Given the description of an element on the screen output the (x, y) to click on. 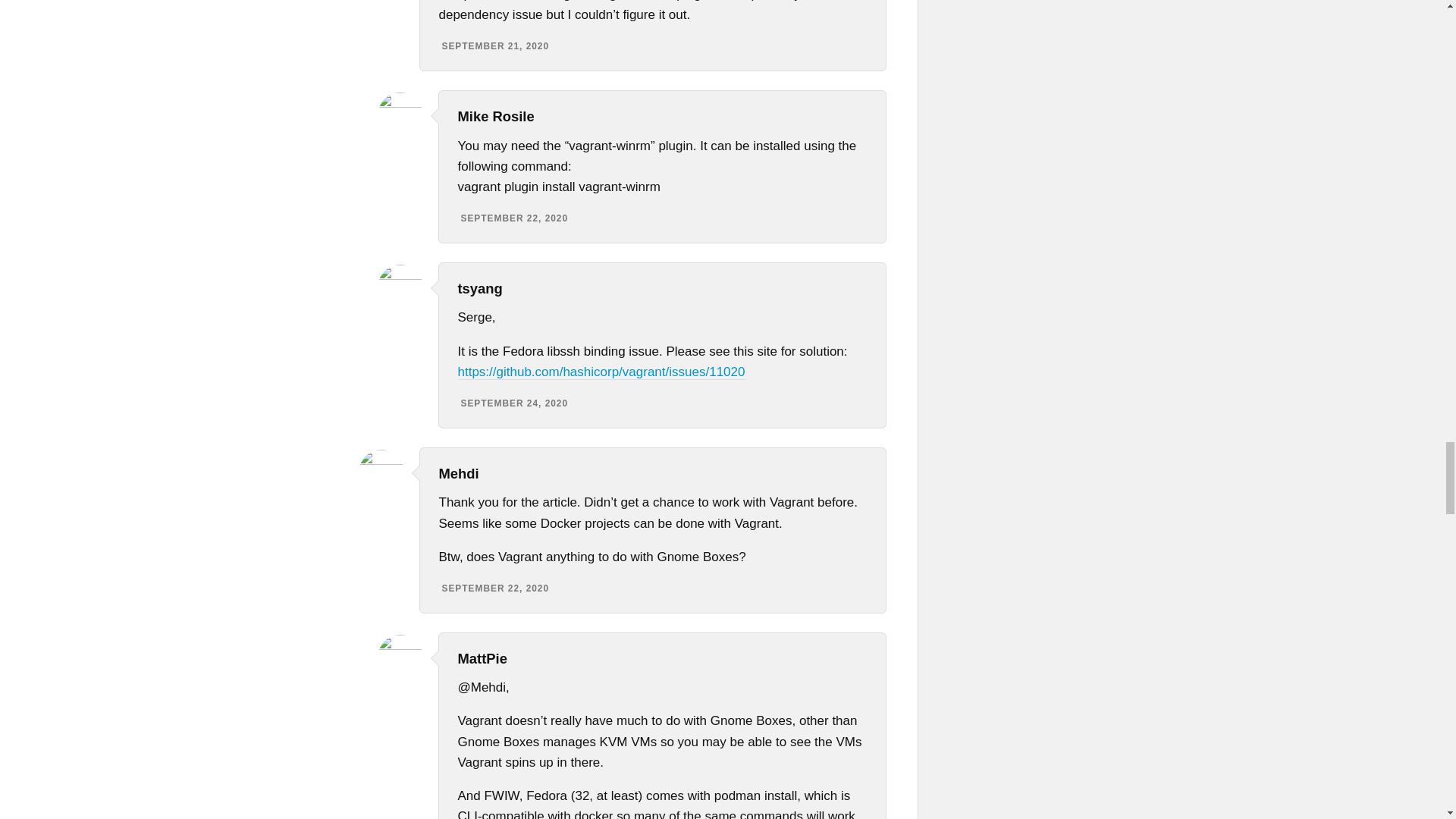
SEPTEMBER 24, 2020 (515, 403)
September 24, 2020 at 05:23 (515, 403)
September 22, 2020 at 10:40 (494, 588)
SEPTEMBER 22, 2020 (494, 588)
SEPTEMBER 21, 2020 (494, 45)
SEPTEMBER 22, 2020 (515, 217)
September 22, 2020 at 16:50 (515, 217)
September 21, 2020 at 19:59 (494, 45)
